Given the description of an element on the screen output the (x, y) to click on. 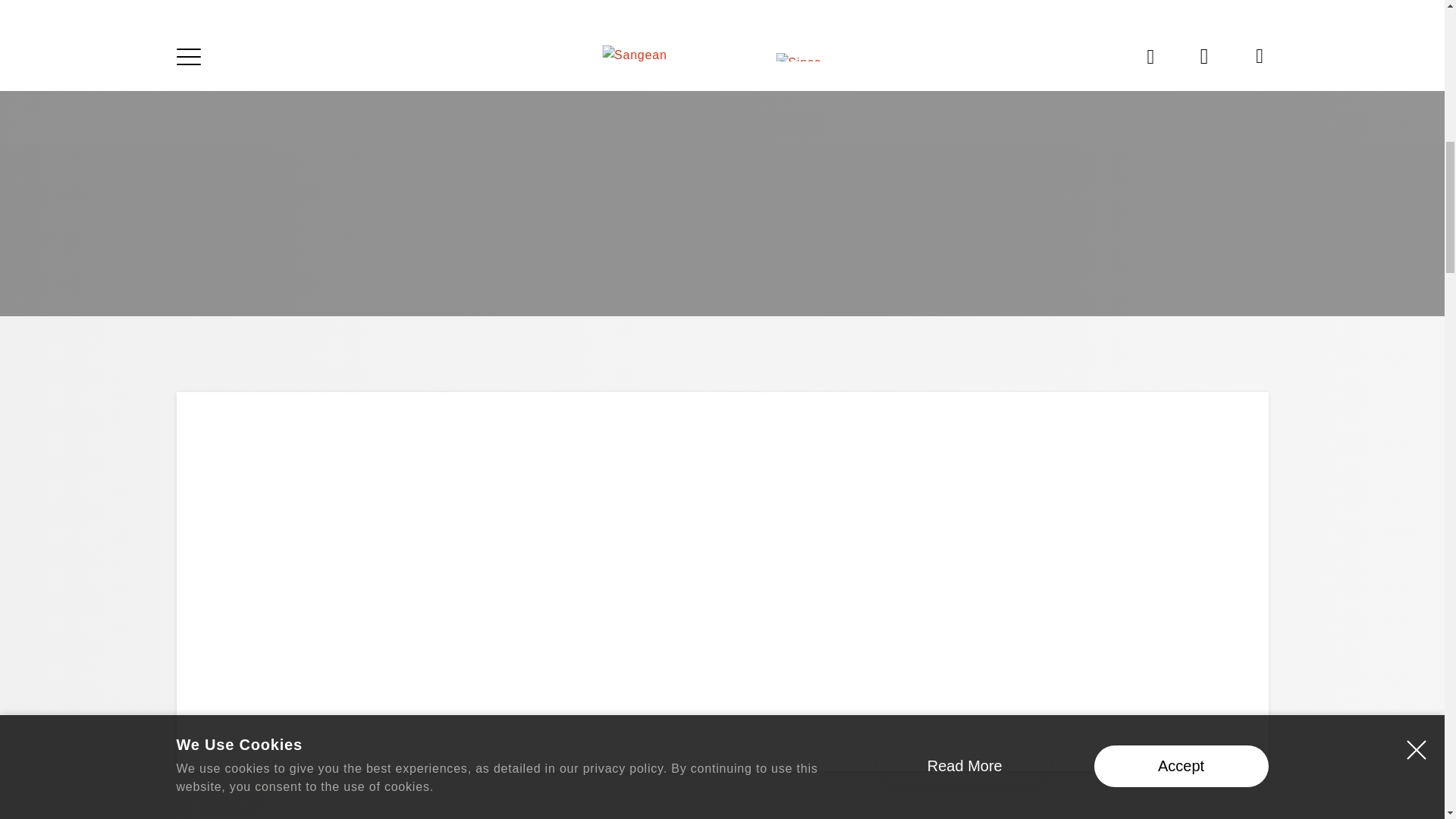
Accept (1180, 45)
Read More (964, 46)
